Given the description of an element on the screen output the (x, y) to click on. 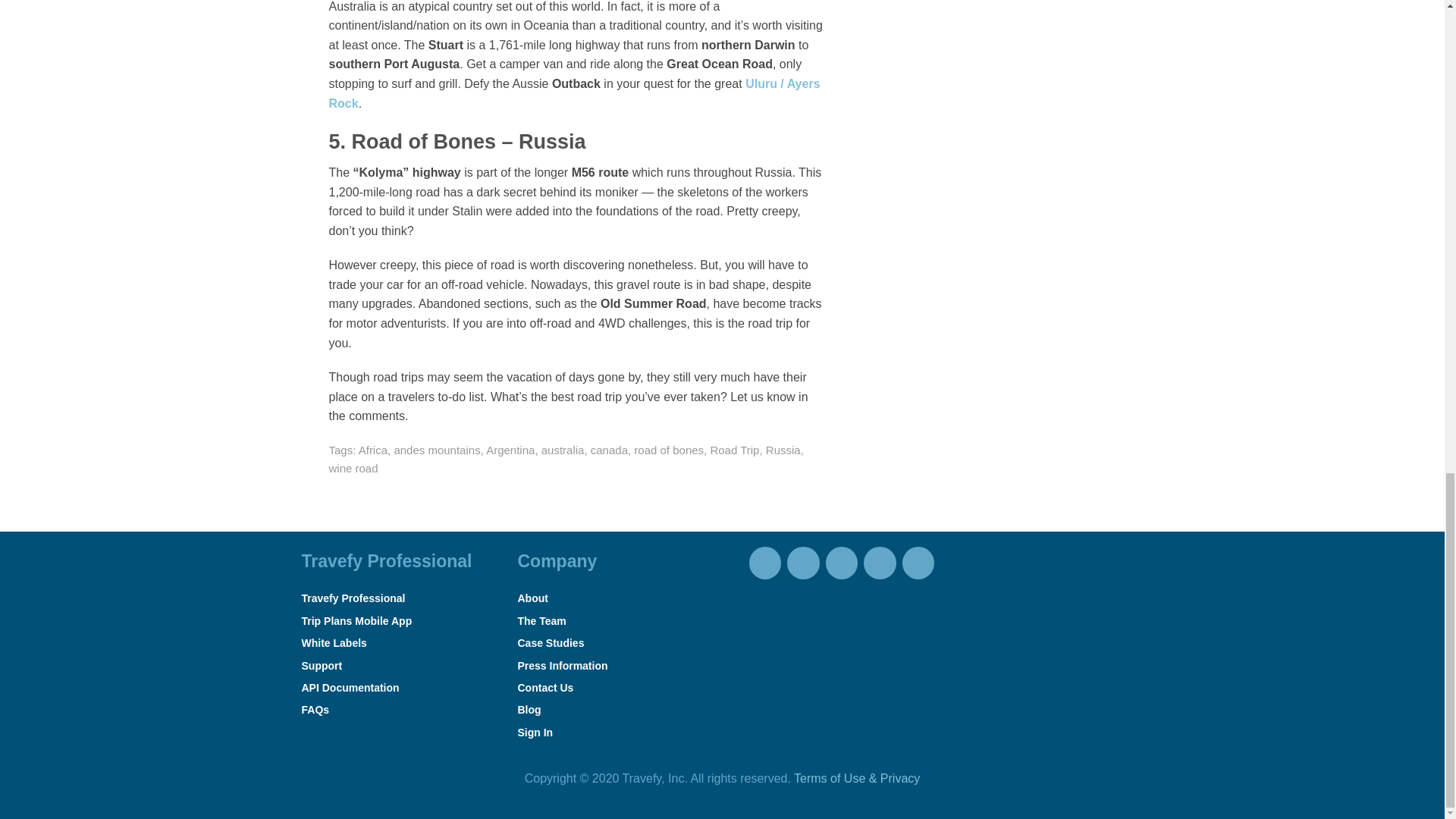
Africa (372, 449)
Road Trip (734, 449)
Argentina (510, 449)
australia (563, 449)
canada (609, 449)
wine road (353, 468)
Russia (782, 449)
Uluru Facts (575, 92)
andes mountains (436, 449)
road of bones (668, 449)
